Given the description of an element on the screen output the (x, y) to click on. 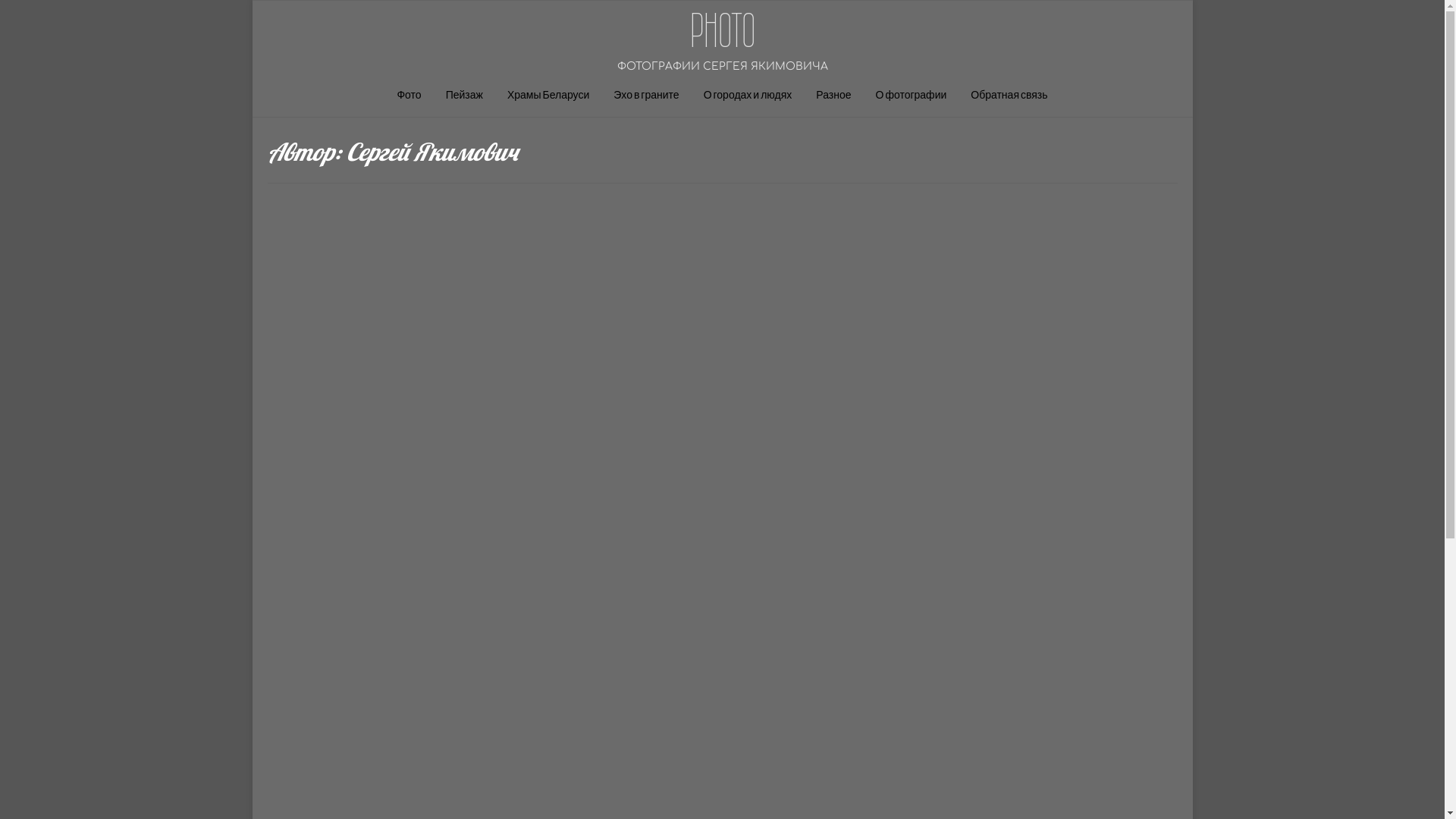
PHOTO Element type: text (722, 30)
